Given the description of an element on the screen output the (x, y) to click on. 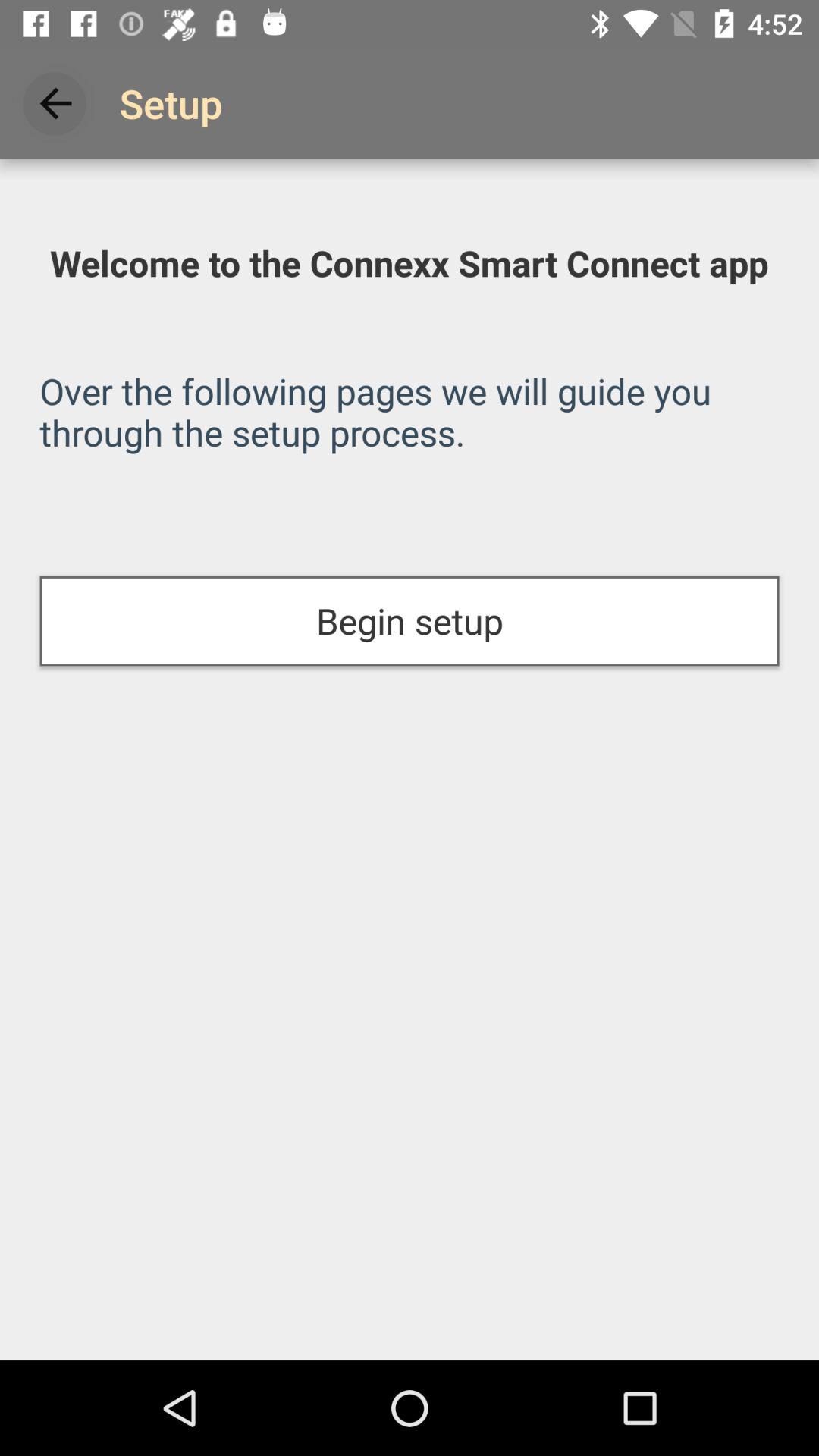
launch the icon to the left of the setup icon (55, 103)
